Given the description of an element on the screen output the (x, y) to click on. 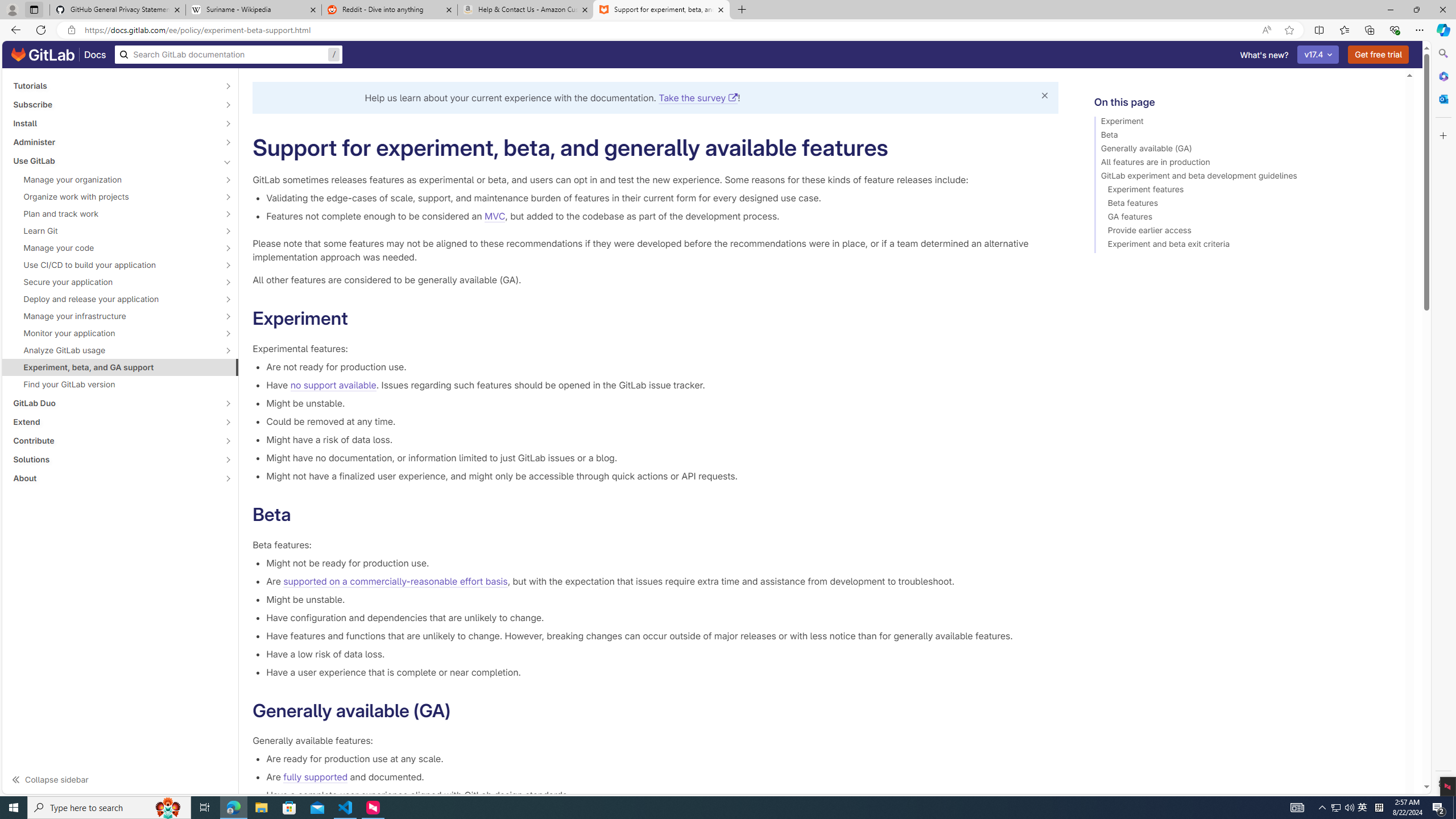
Are not ready for production use. (662, 366)
Generally available (GA) (1244, 150)
GitLab documentation home (42, 54)
GA features (1244, 218)
Administer (113, 141)
Install (113, 122)
Might be unstable. (662, 599)
Provide earlier access (1244, 232)
fully supported (315, 777)
Experiment features (1244, 191)
